Given the description of an element on the screen output the (x, y) to click on. 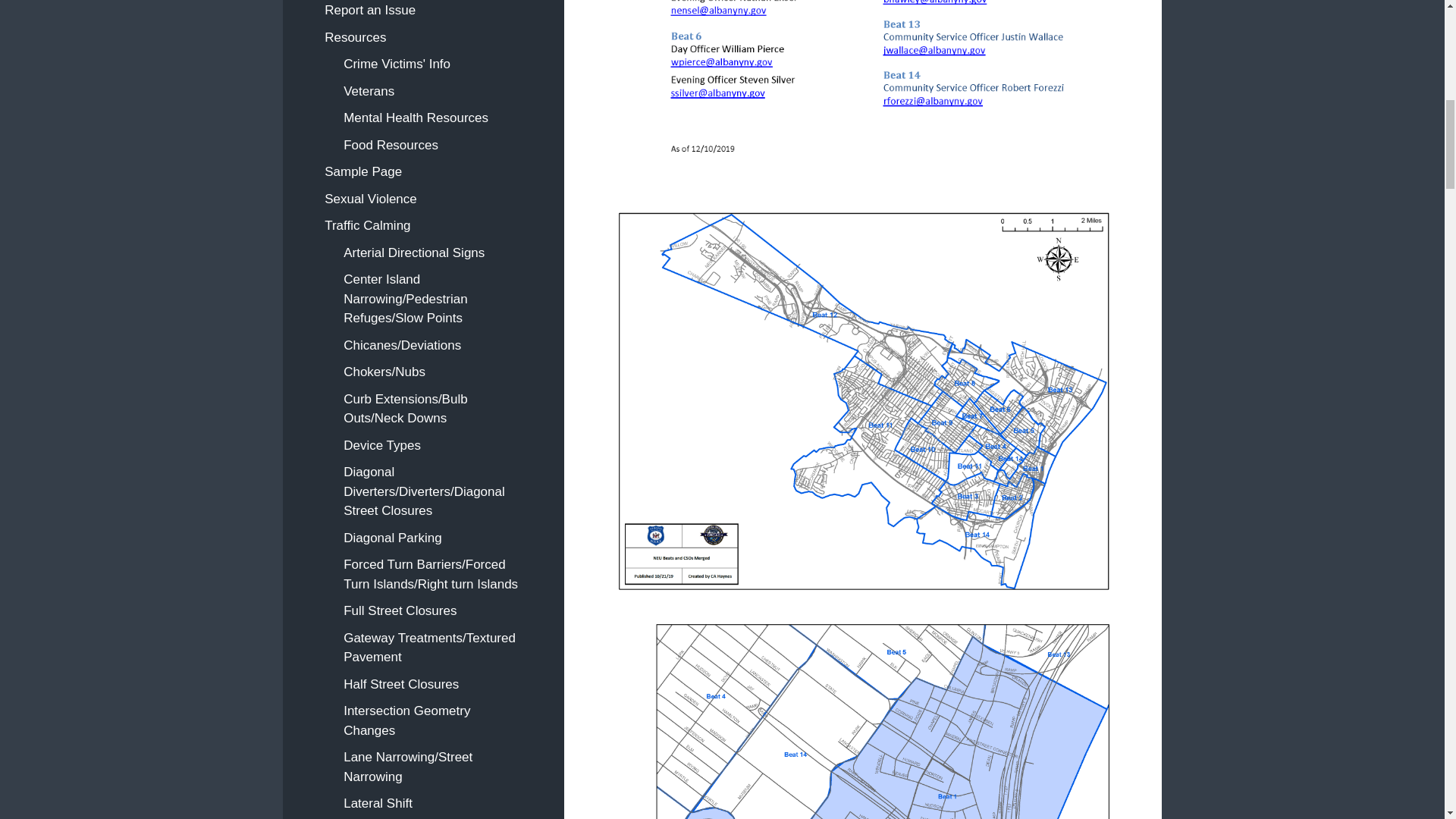
Resources (422, 37)
Device Types (432, 445)
Sample Page (422, 171)
Sexual Violence (422, 198)
Veterans (432, 91)
Food Resources (432, 144)
Mental Health Resources (432, 117)
Traffic Calming (422, 225)
Report an Issue (422, 12)
Crime Victims' Info (432, 63)
Arterial Directional Signs (432, 252)
